Given the description of an element on the screen output the (x, y) to click on. 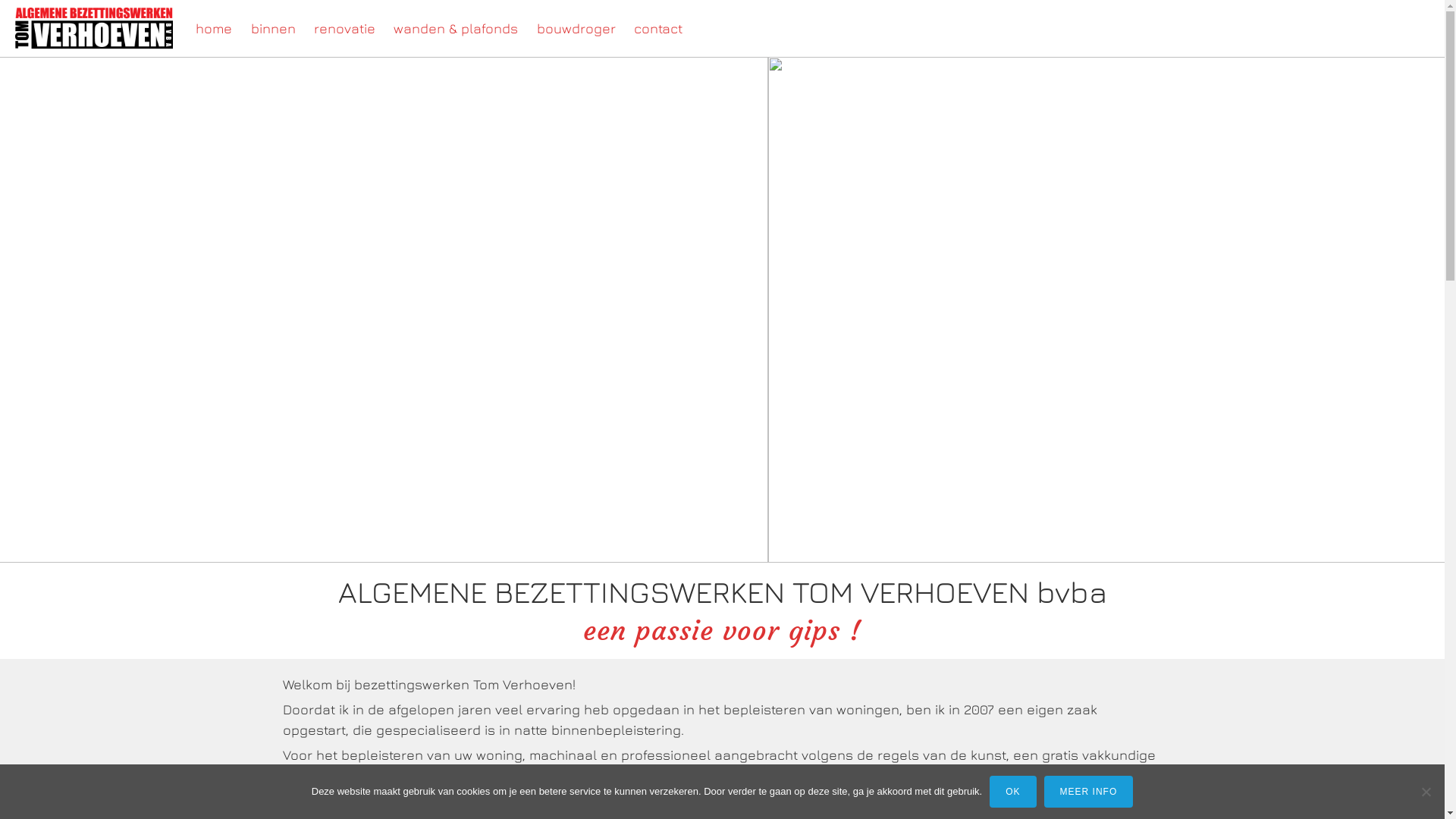
contact Element type: text (658, 28)
MEER INFO Element type: text (1088, 791)
OK Element type: text (1012, 791)
renovatie Element type: text (344, 28)
Nee Element type: hover (1425, 791)
wanden & plafonds Element type: text (455, 28)
bouwdroger Element type: text (576, 28)
binnen Element type: text (273, 28)
home Element type: text (213, 28)
